Given the description of an element on the screen output the (x, y) to click on. 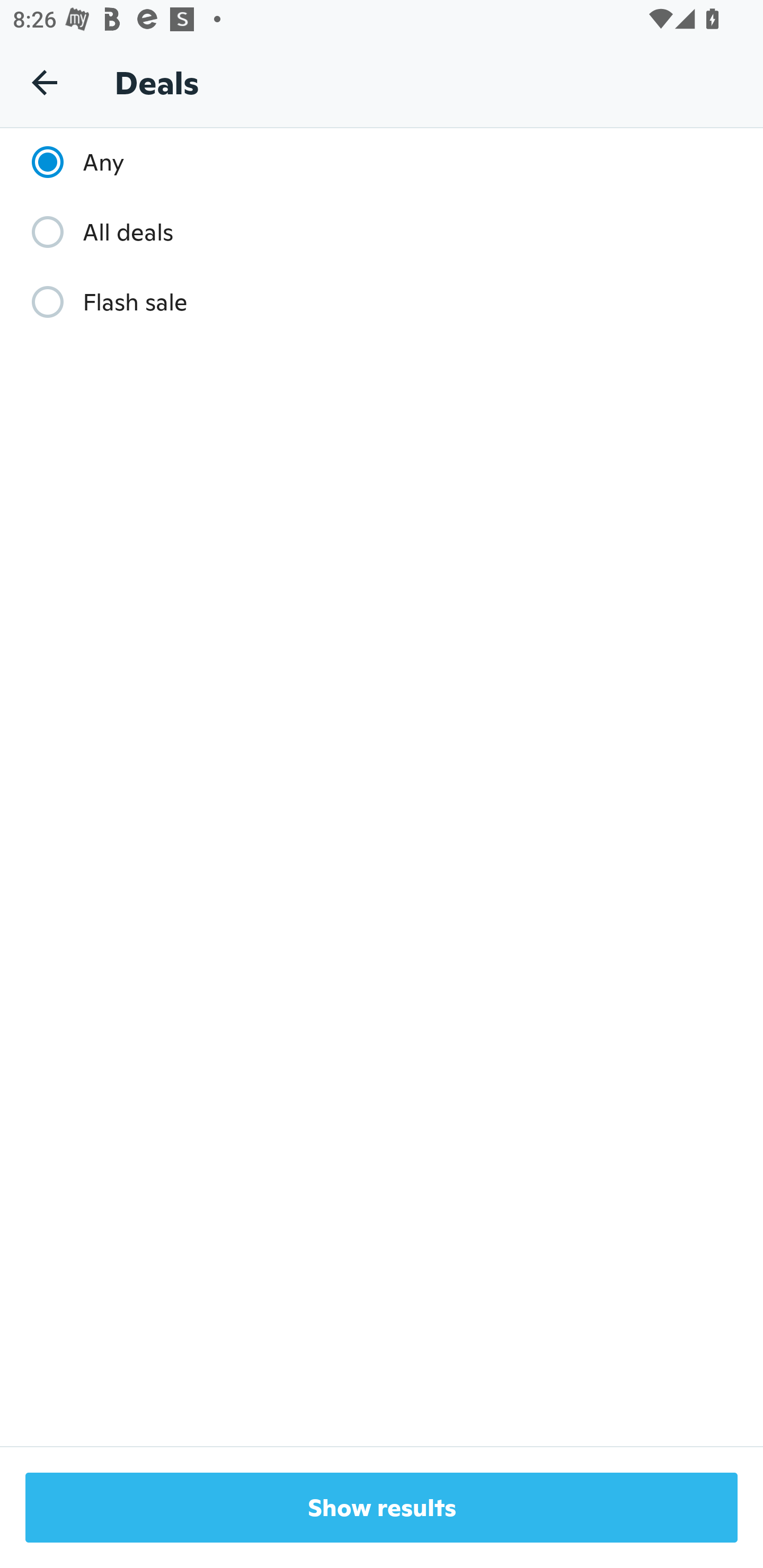
Navigate up (44, 82)
Any (69, 162)
All deals (93, 231)
Flash sale (99, 301)
Show results (381, 1507)
